Given the description of an element on the screen output the (x, y) to click on. 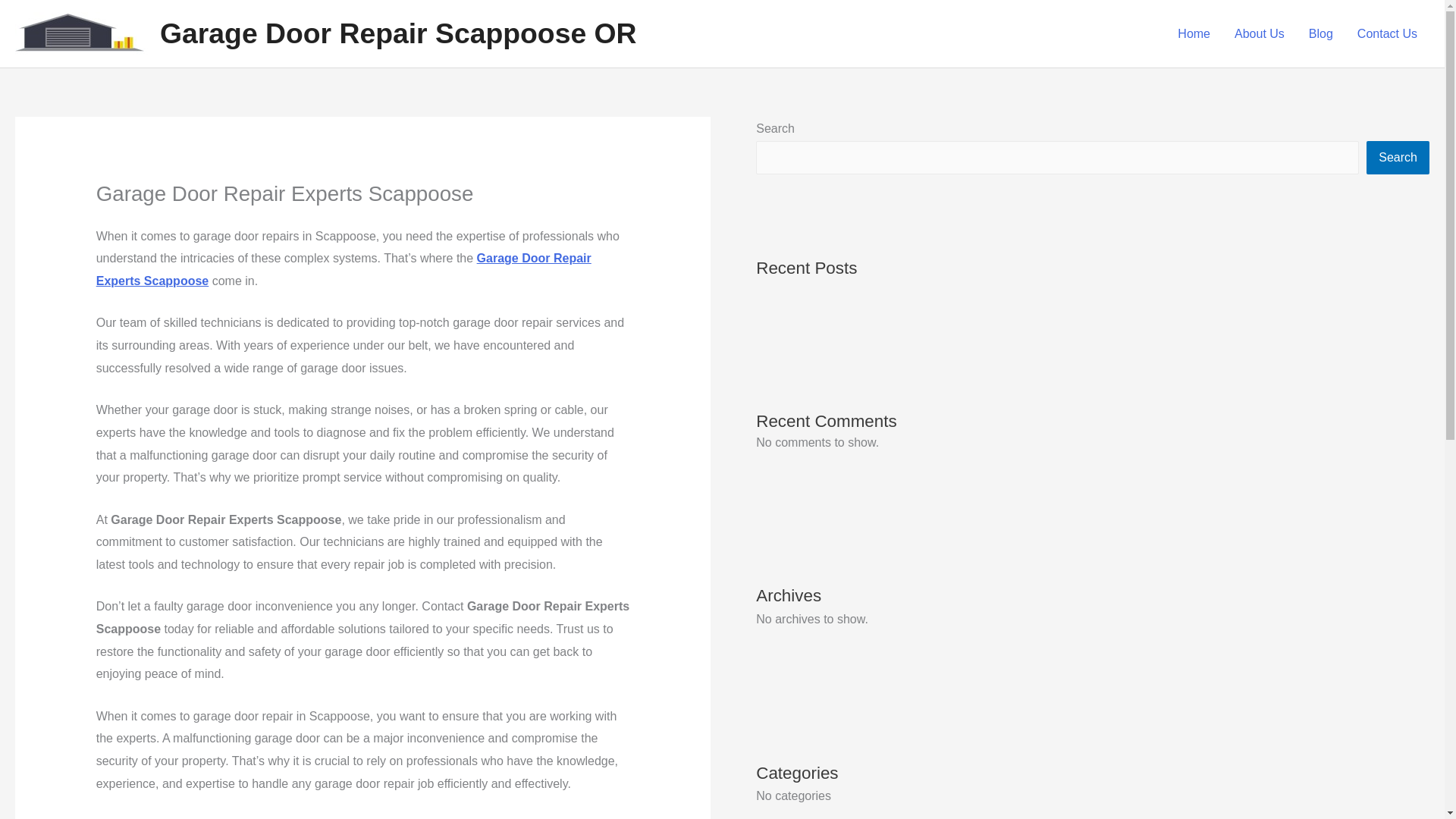
Garage Door Repair Scappoose OR (398, 33)
Garage Door Repair Experts Scappoose (343, 269)
Contact Us (1387, 33)
Blog (1321, 33)
Search (1398, 157)
About Us (1260, 33)
Home (1194, 33)
